Given the description of an element on the screen output the (x, y) to click on. 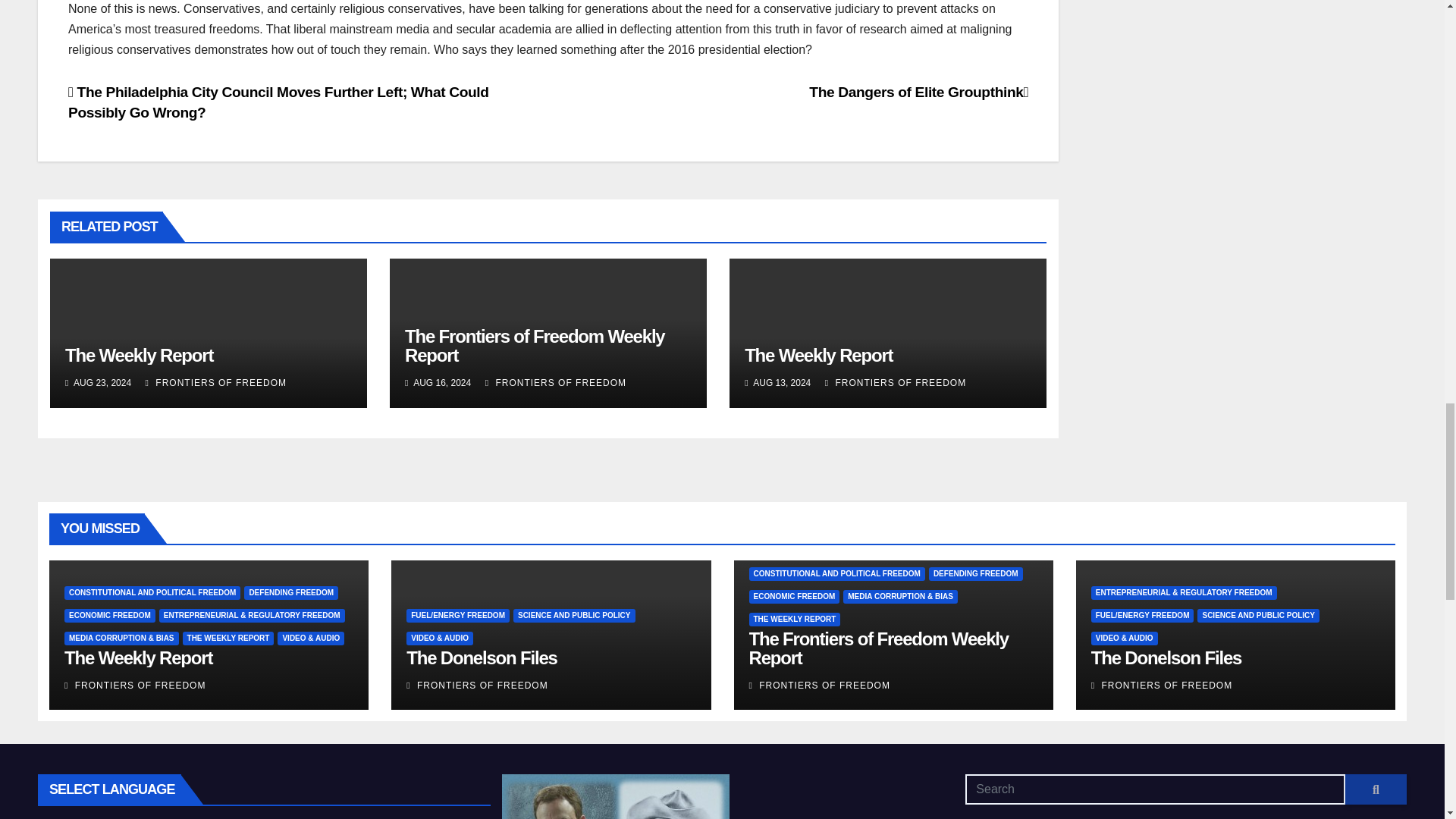
FRONTIERS OF FREEDOM (215, 382)
The Weekly Report (138, 354)
Permalink to: The Weekly Report (138, 354)
The Dangers of Elite Groupthink (918, 91)
FRONTIERS OF FREEDOM (895, 382)
The Weekly Report (818, 354)
The Frontiers of Freedom Weekly Report (533, 345)
FRONTIERS OF FREEDOM (555, 382)
